Given the description of an element on the screen output the (x, y) to click on. 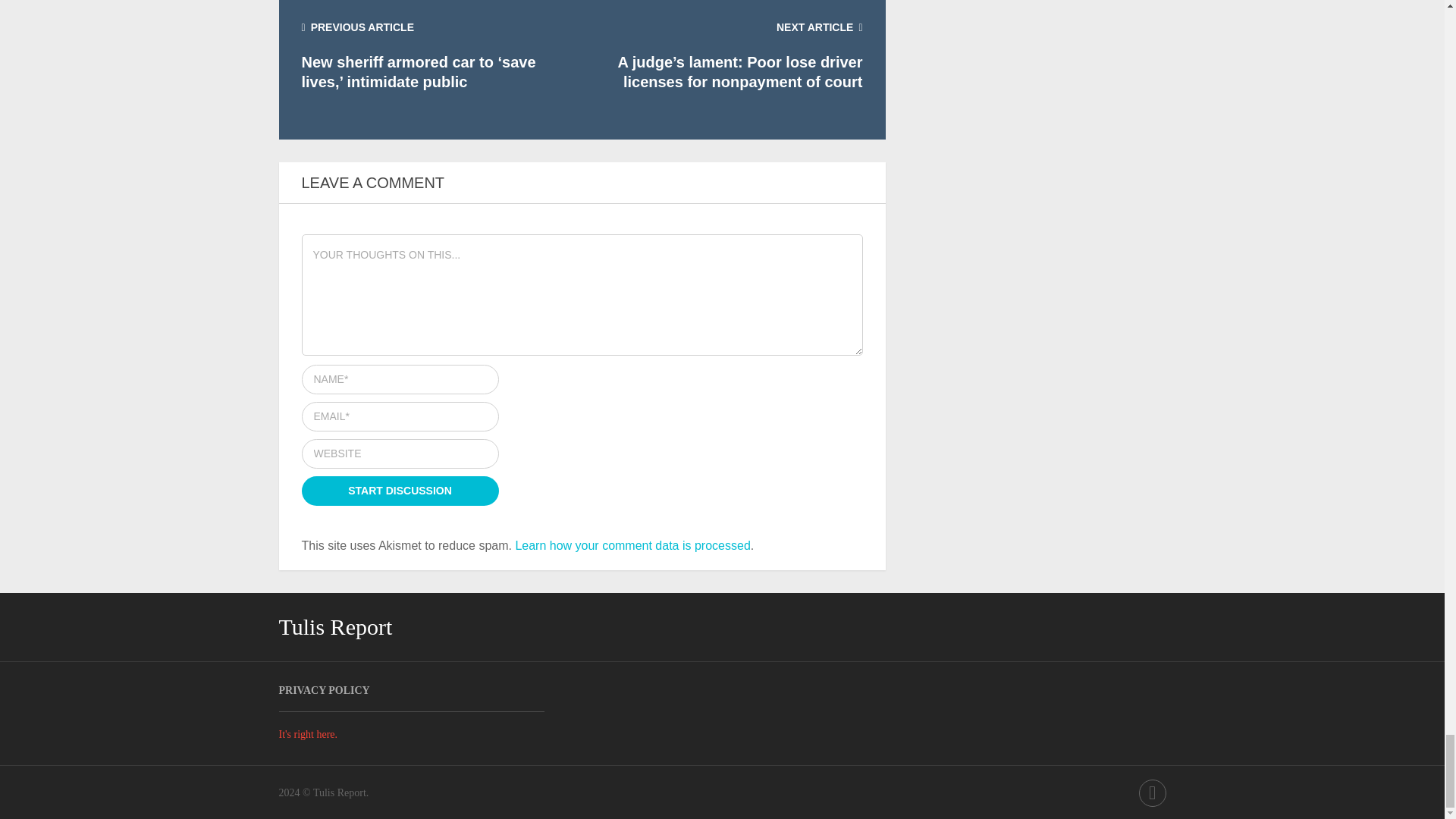
Start Discussion (400, 490)
